Given the description of an element on the screen output the (x, y) to click on. 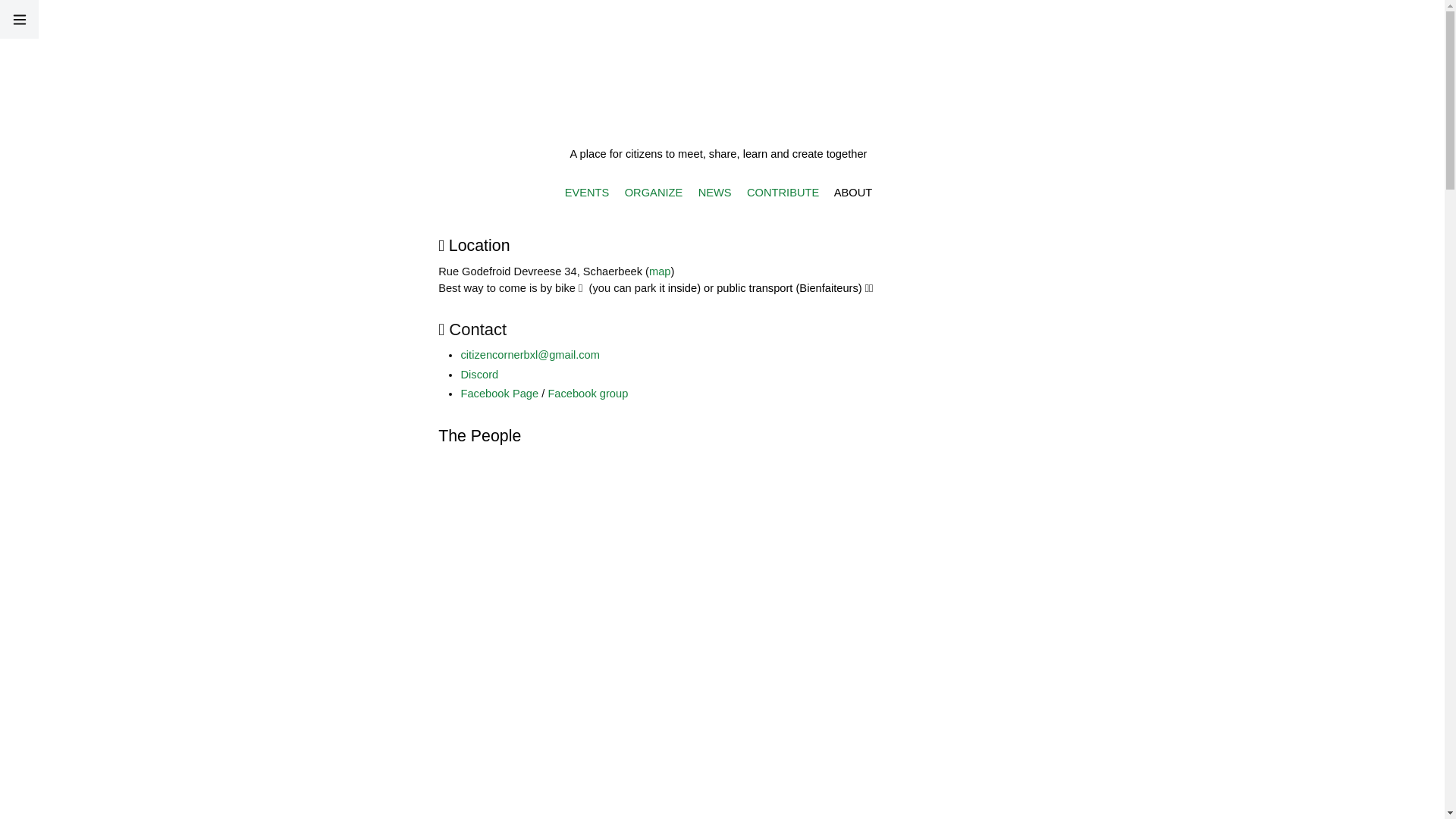
Facebook group Element type: text (587, 393)
citizencornerbxl@gmail.com Element type: text (529, 354)
Discord Element type: text (479, 374)
CONTRIBUTE Element type: text (782, 192)
NEWS Element type: text (714, 192)
EVENTS Element type: text (586, 192)
Facebook Page Element type: text (499, 393)
map Element type: text (660, 271)
ORGANIZE Element type: text (653, 192)
